Given the description of an element on the screen output the (x, y) to click on. 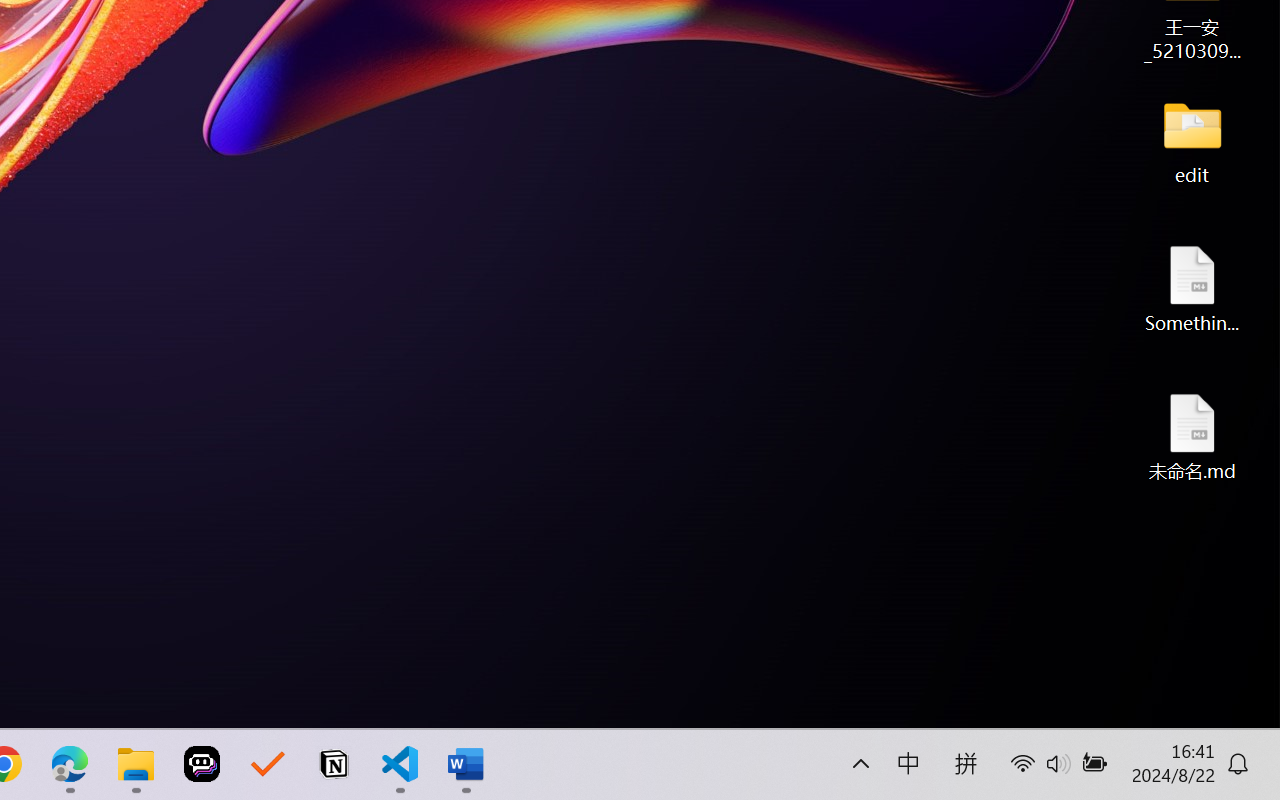
edit (1192, 140)
Notion (333, 764)
